Given the description of an element on the screen output the (x, y) to click on. 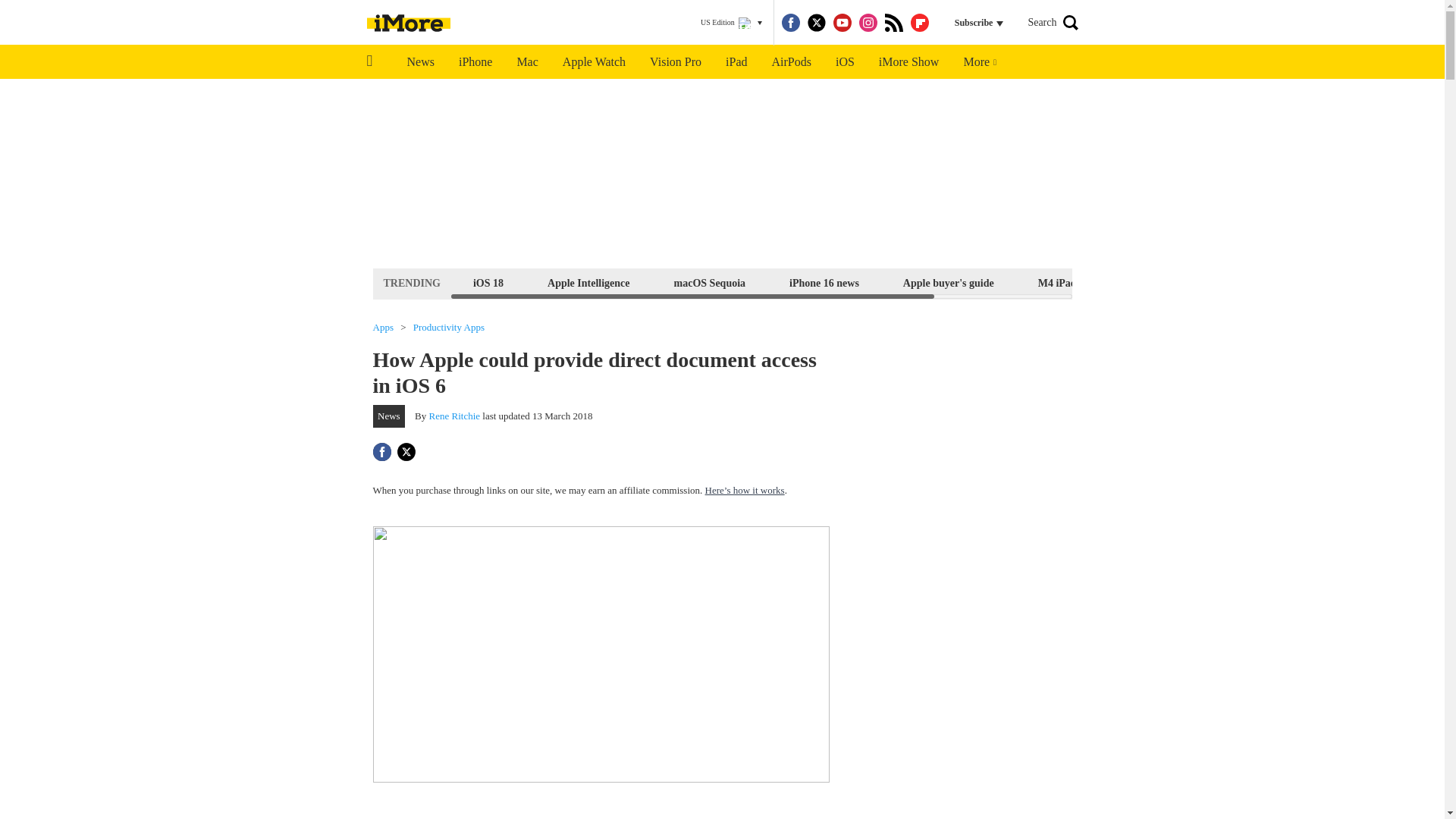
AirPods (792, 61)
iPhone (474, 61)
iOS (845, 61)
iMore Show (909, 61)
Apple Watch (593, 61)
Vision Pro (675, 61)
iPad (735, 61)
Mac (526, 61)
US Edition (731, 22)
News (419, 61)
